Given the description of an element on the screen output the (x, y) to click on. 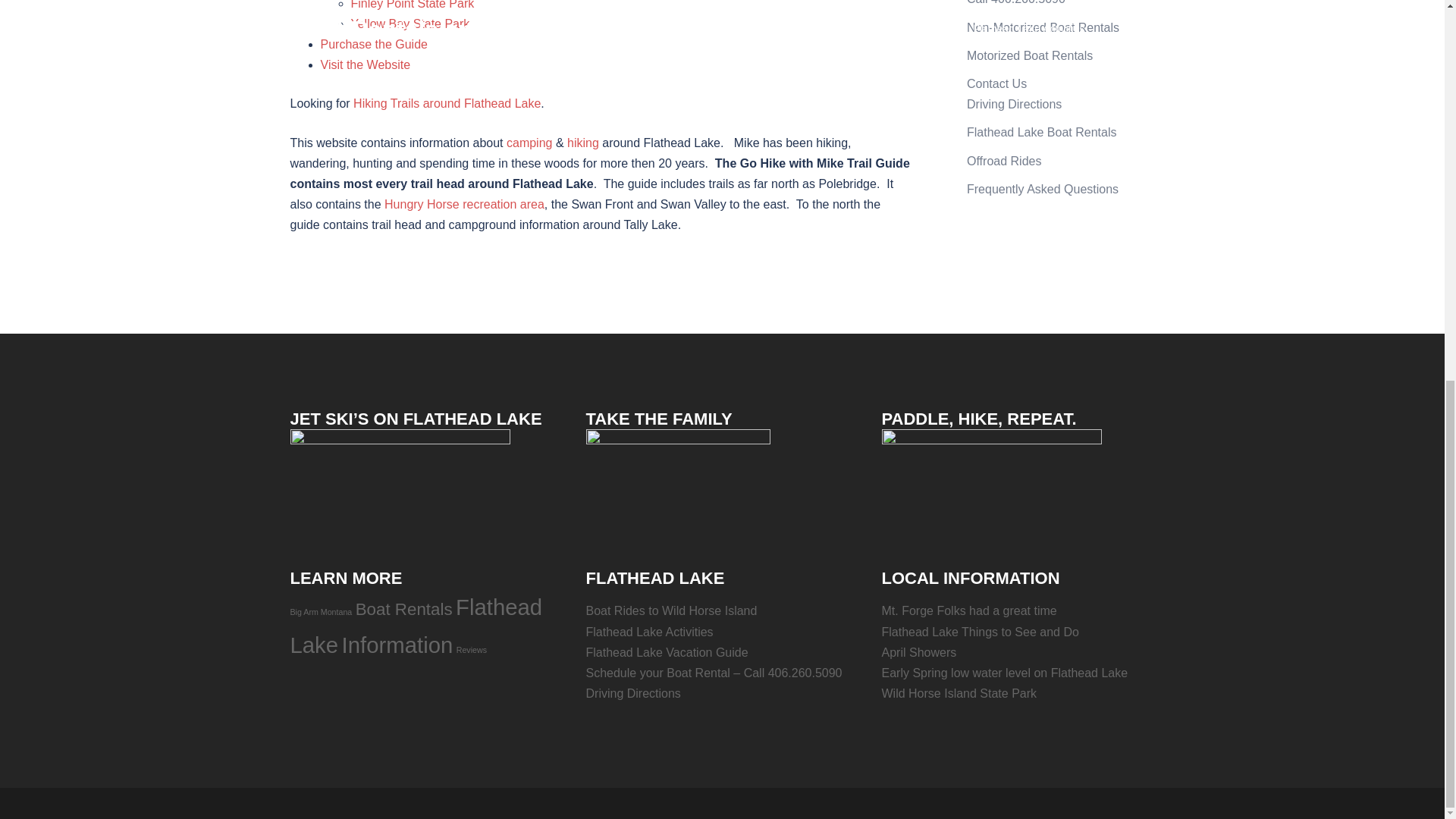
Yellow Bay State Park (409, 23)
Visit the Website (365, 64)
Hiking Trails around Flathead Lake (446, 103)
Finley Point State Park (412, 4)
camping (528, 142)
hiking (582, 142)
Hungry Horse recreation area (464, 204)
Purchase the Guide (373, 43)
